Given the description of an element on the screen output the (x, y) to click on. 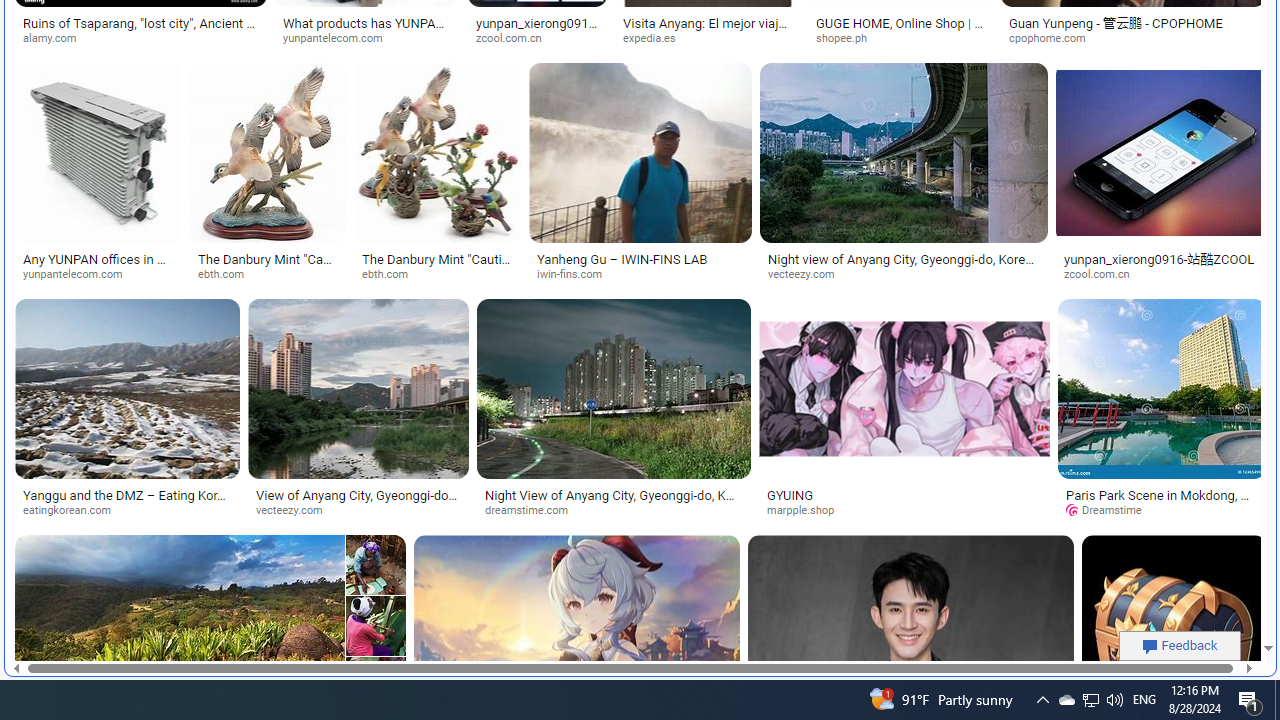
alamy.com (56, 37)
shopee.ph (900, 38)
dreamstime.com (613, 511)
expedia.es (707, 38)
expedia.es (656, 37)
